Given the description of an element on the screen output the (x, y) to click on. 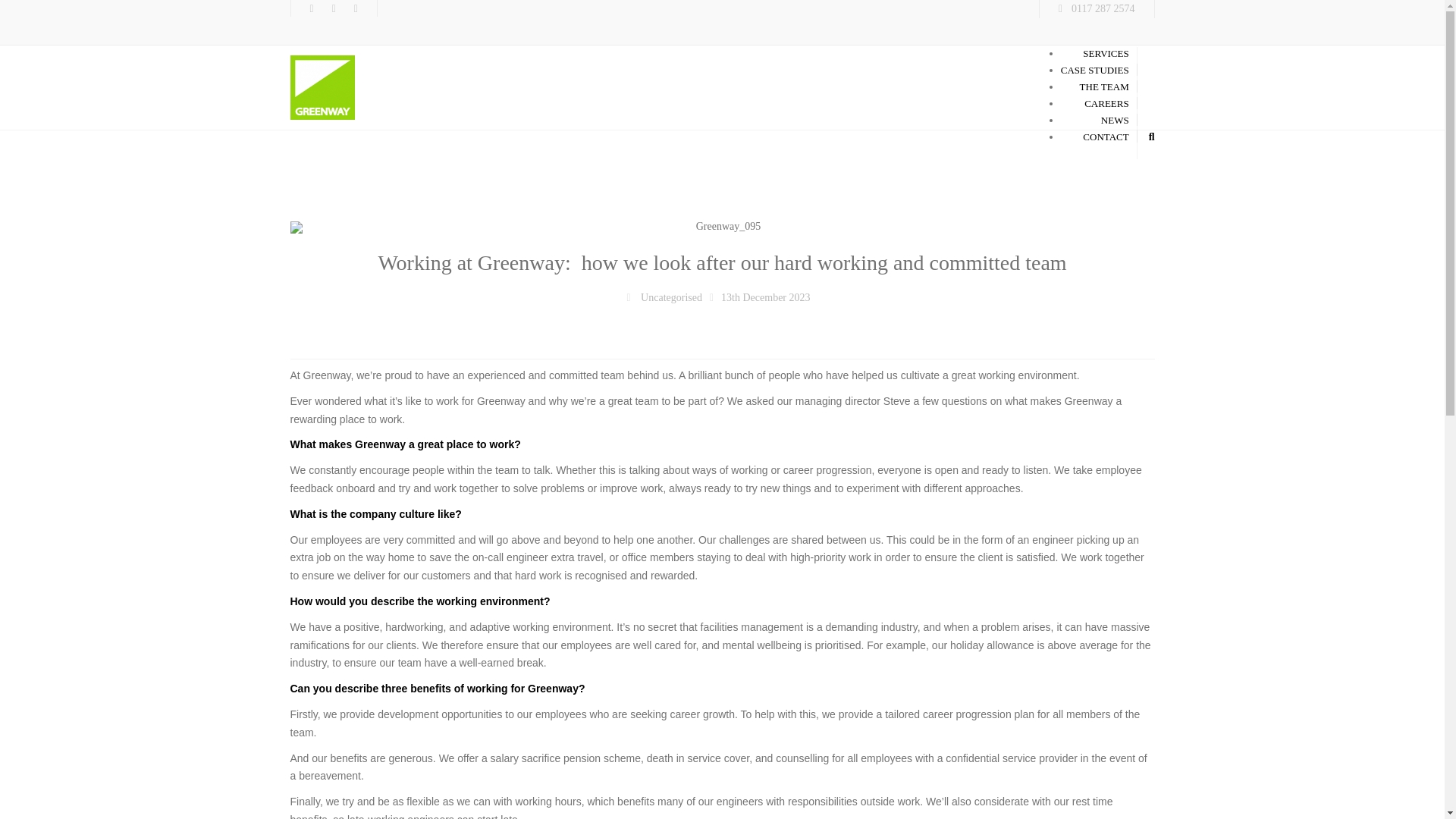
Find us on LinkedIn (333, 8)
CASE STUDIES (1095, 70)
Search (1151, 136)
Find us on LinkedIn (333, 8)
THE TEAM (1104, 86)
SERVICES (1105, 52)
NEWS (1114, 120)
CAREERS (1106, 102)
CONTACT (1105, 136)
Uncategorised (670, 298)
